Given the description of an element on the screen output the (x, y) to click on. 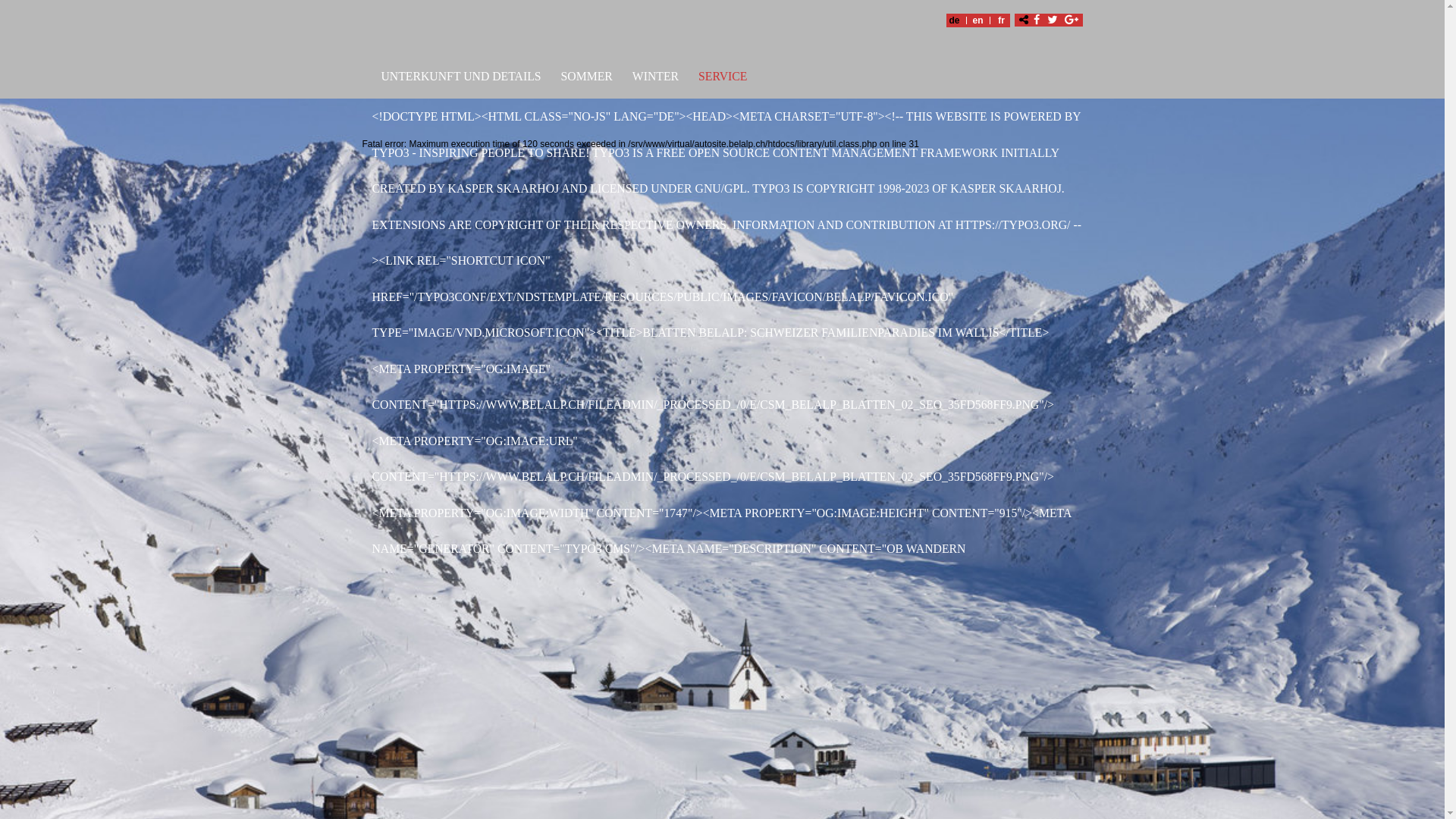
fr Element type: text (1001, 19)
WINTER Element type: text (655, 78)
UNTERKUNFT UND DETAILS Element type: text (456, 78)
en Element type: text (977, 19)
de Element type: text (954, 19)
SOMMER Element type: text (586, 78)
SERVICE Element type: text (722, 78)
